Given the description of an element on the screen output the (x, y) to click on. 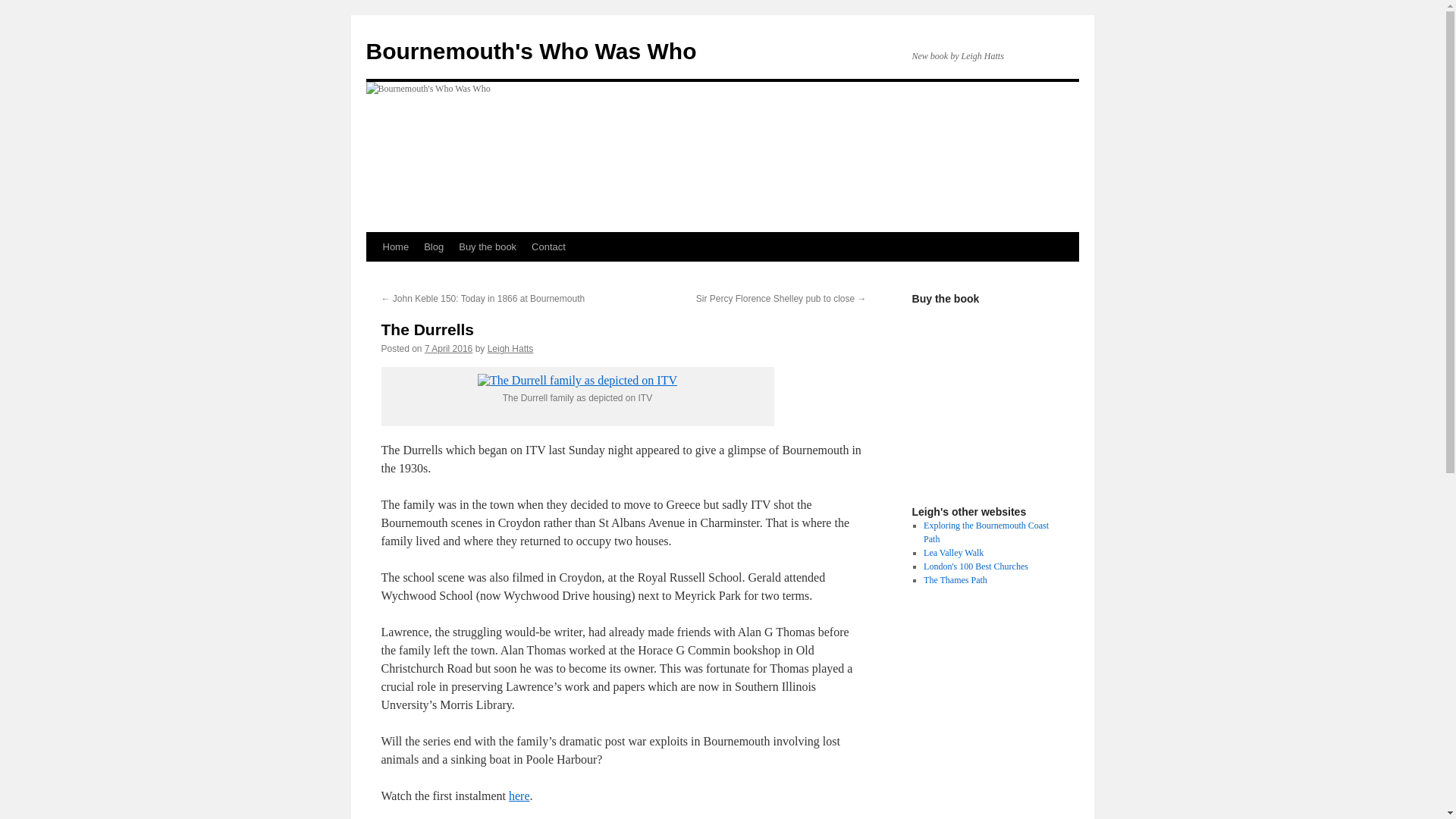
Lea Valley Walk (953, 552)
Bournemouth's Who Was Who (530, 50)
here (518, 795)
Blog (433, 246)
7 April 2016 (448, 348)
London's 100 Best Churches (975, 566)
Buy the book (487, 246)
Exploring the Bournemouth Coast Path (985, 532)
The Thames Path (955, 579)
Home (395, 246)
Leigh Hatts (510, 348)
7:09 pm (448, 348)
Contact (548, 246)
View all posts by Leigh Hatts (510, 348)
